Given the description of an element on the screen output the (x, y) to click on. 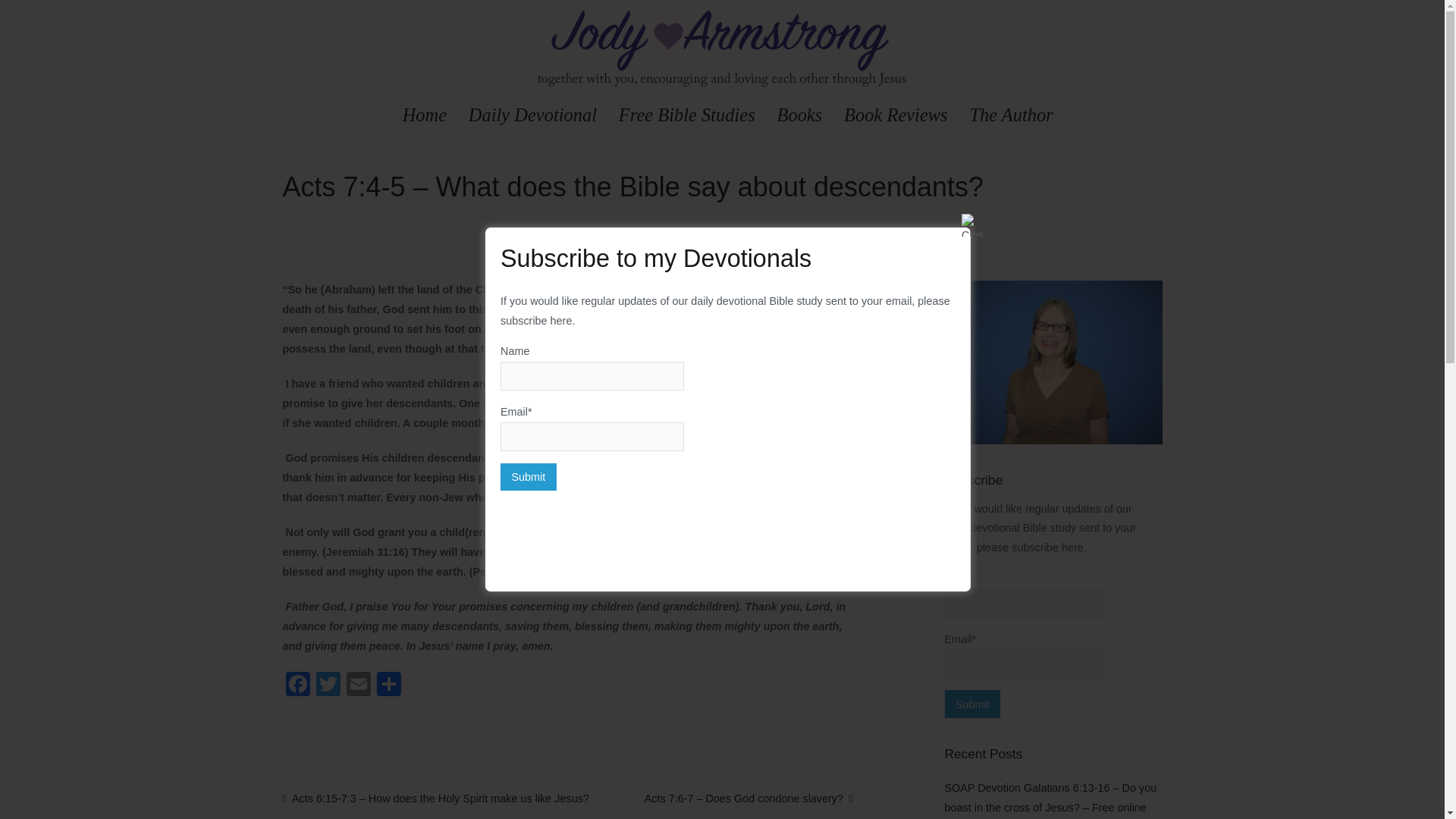
Twitter (327, 685)
Submit (528, 476)
Twitter (327, 685)
Facebook (297, 685)
Jody Armstrong (771, 97)
Email (357, 685)
Books (799, 114)
Daily Devotional (532, 114)
Free Bible Studies (686, 114)
The Author (1010, 114)
